Given the description of an element on the screen output the (x, y) to click on. 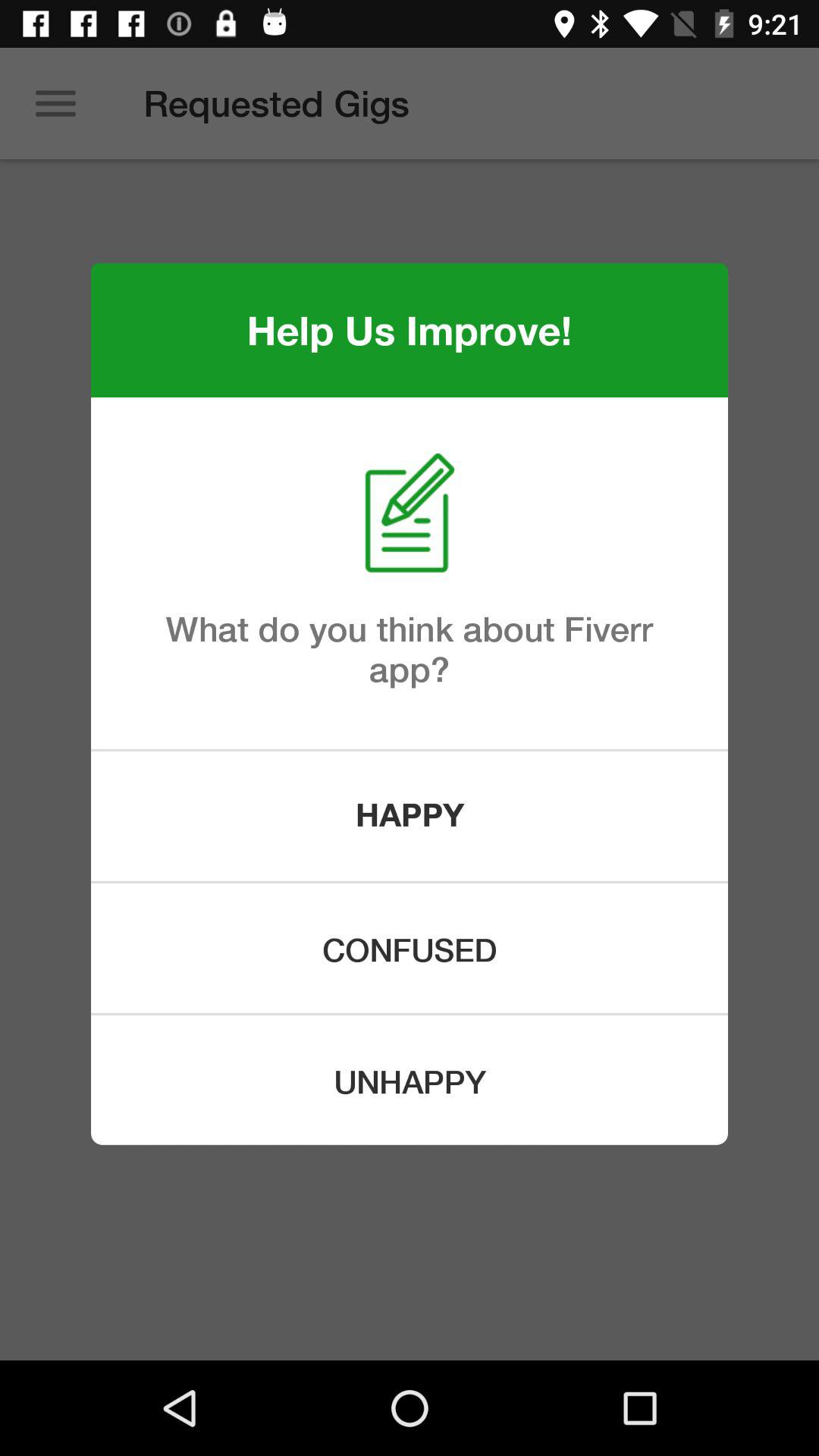
select confused icon (409, 947)
